Given the description of an element on the screen output the (x, y) to click on. 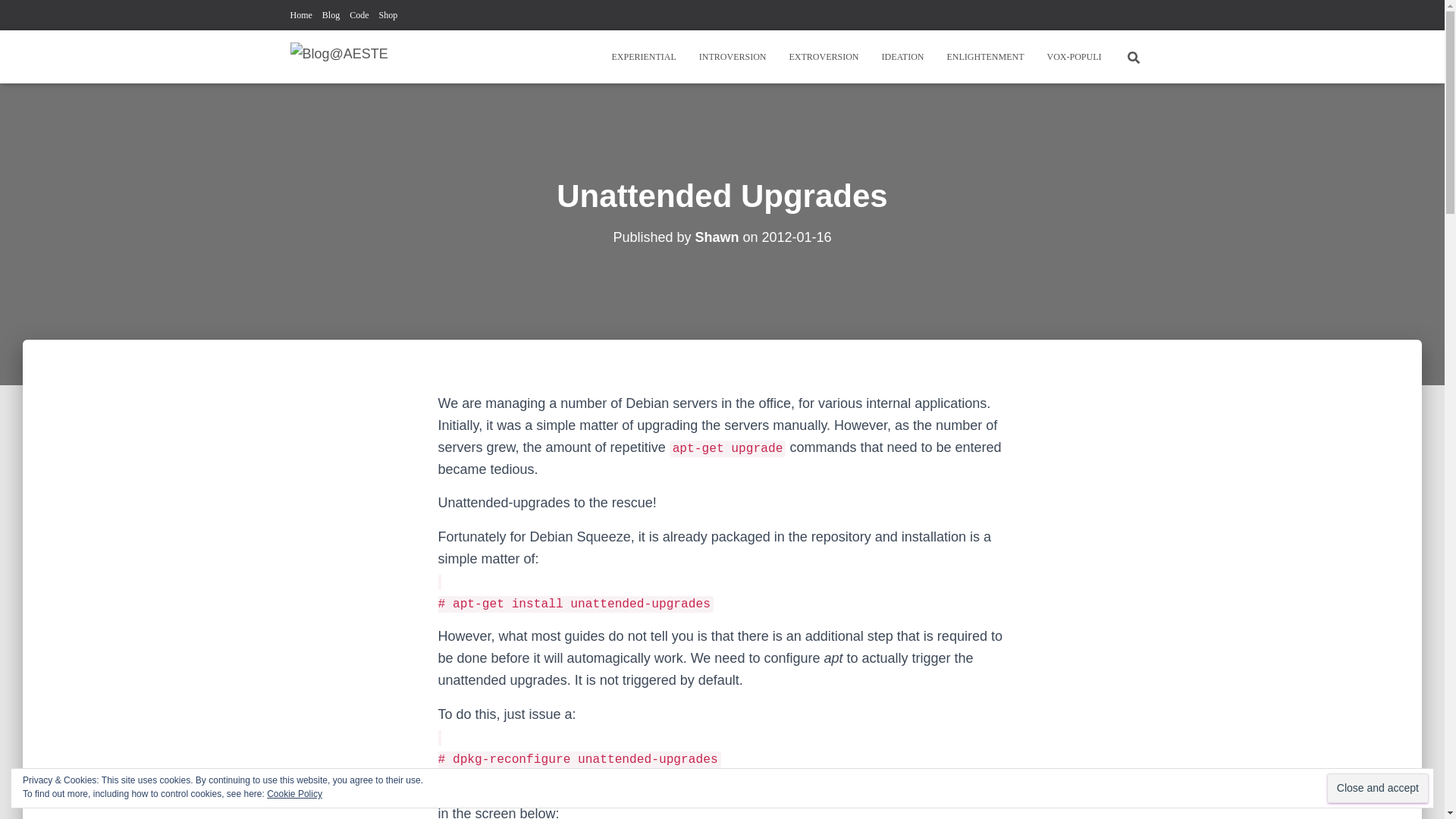
Close and accept (1377, 788)
VOX-POPULI (1074, 56)
Enlightenment (985, 56)
Vox-Populi (1074, 56)
Home (300, 15)
Blog (330, 15)
Code (358, 15)
Blog (330, 15)
Extroversion (823, 56)
EXTROVERSION (823, 56)
Shop (387, 15)
INTROVERSION (732, 56)
IDEATION (903, 56)
ENLIGHTENMENT (985, 56)
EXPERIENTIAL (643, 56)
